Given the description of an element on the screen output the (x, y) to click on. 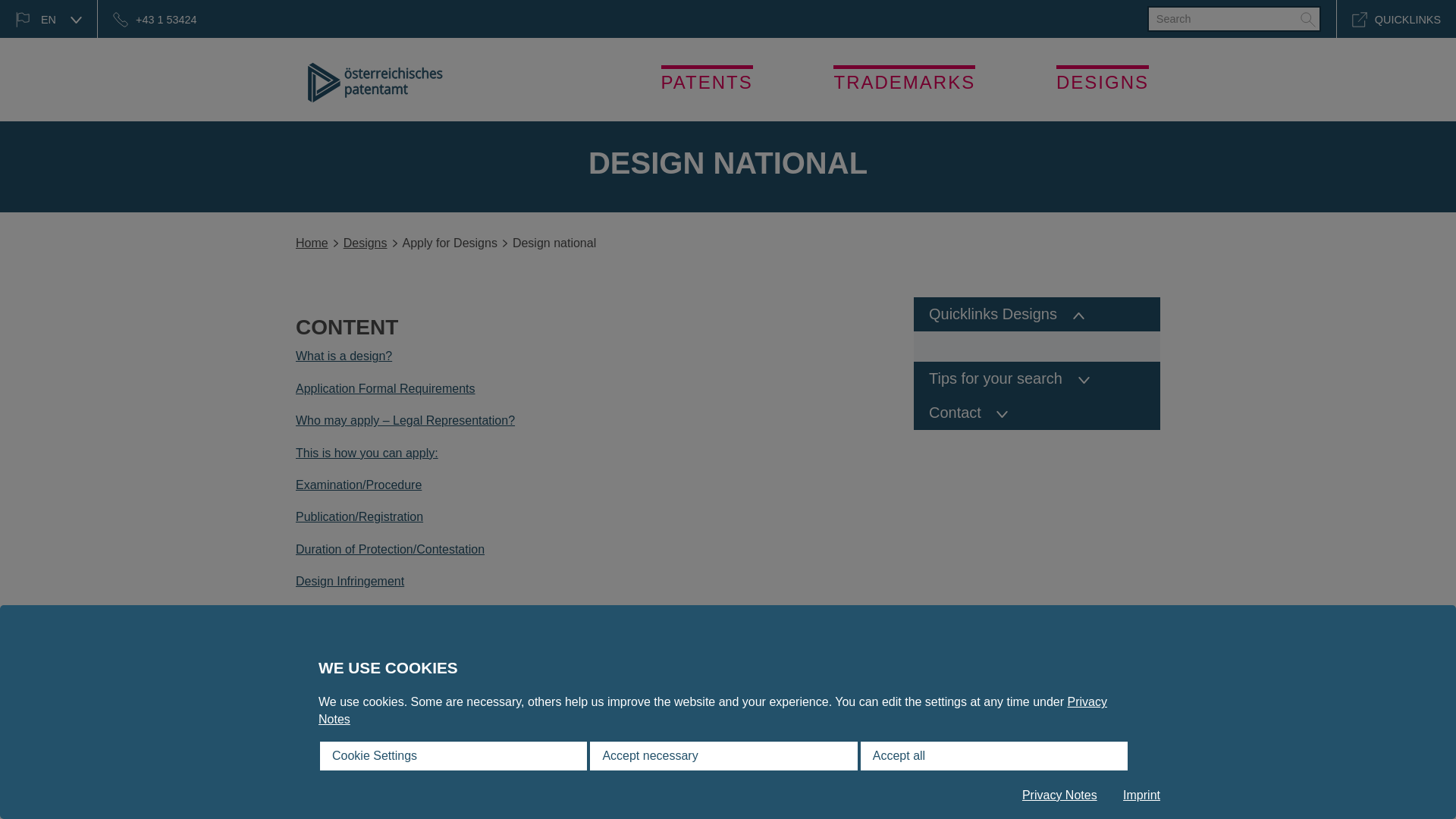
Start search (1307, 18)
Accept all (994, 756)
Cookie Settings (453, 756)
Designs (365, 242)
EN (48, 18)
Privacy Notes (712, 709)
Privacy Notes (1059, 795)
Service-Phone number (154, 18)
Accept necessary (723, 756)
Austrian Patent Office (374, 81)
Austrian Patent Office (374, 81)
Home (312, 242)
Imprint (1141, 795)
